Given the description of an element on the screen output the (x, y) to click on. 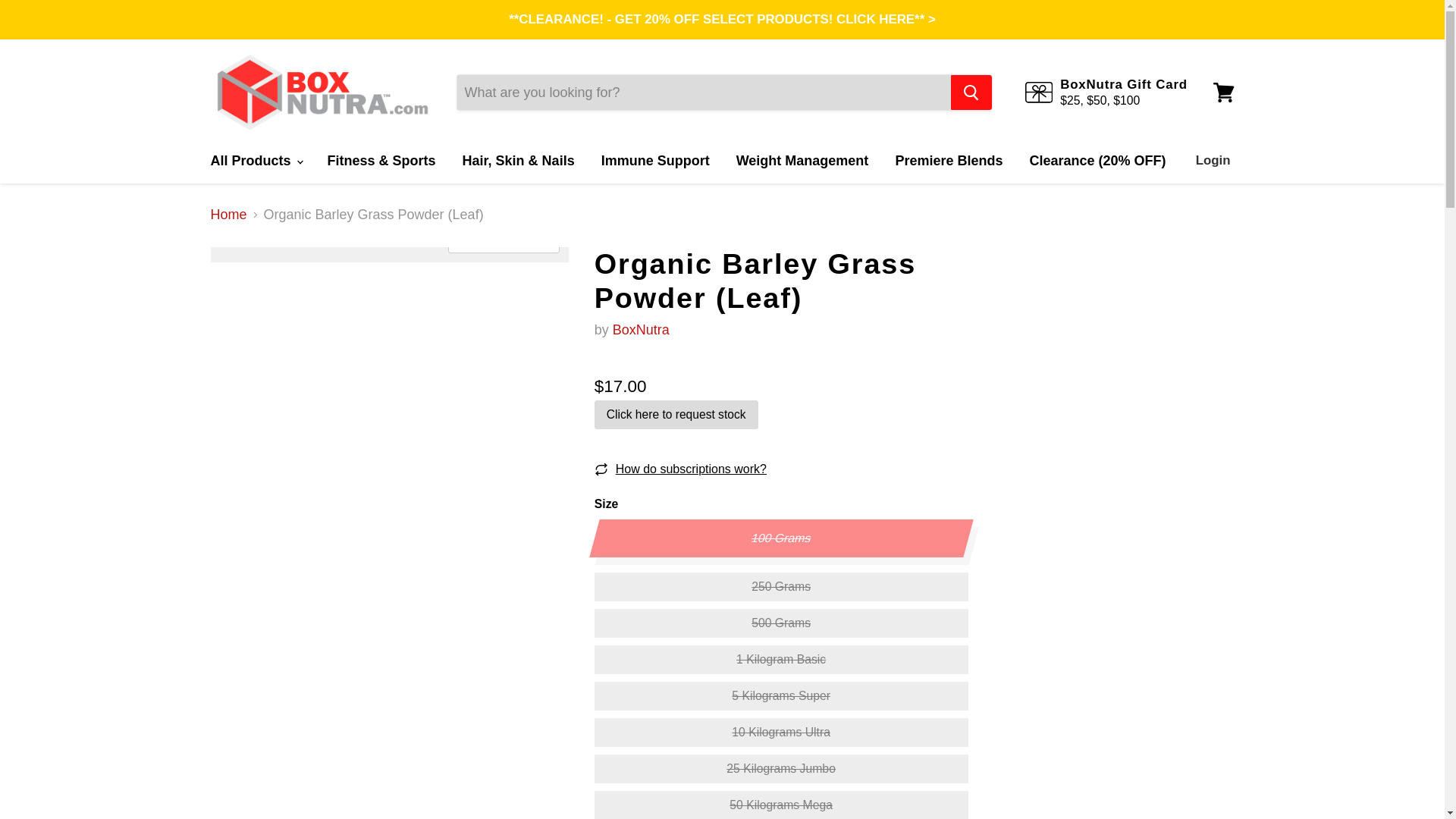
BoxNutra (640, 329)
All Products (254, 160)
Premiere Blends (948, 160)
View cart (1223, 92)
Immune Support (654, 160)
Weight Management (802, 160)
